Given the description of an element on the screen output the (x, y) to click on. 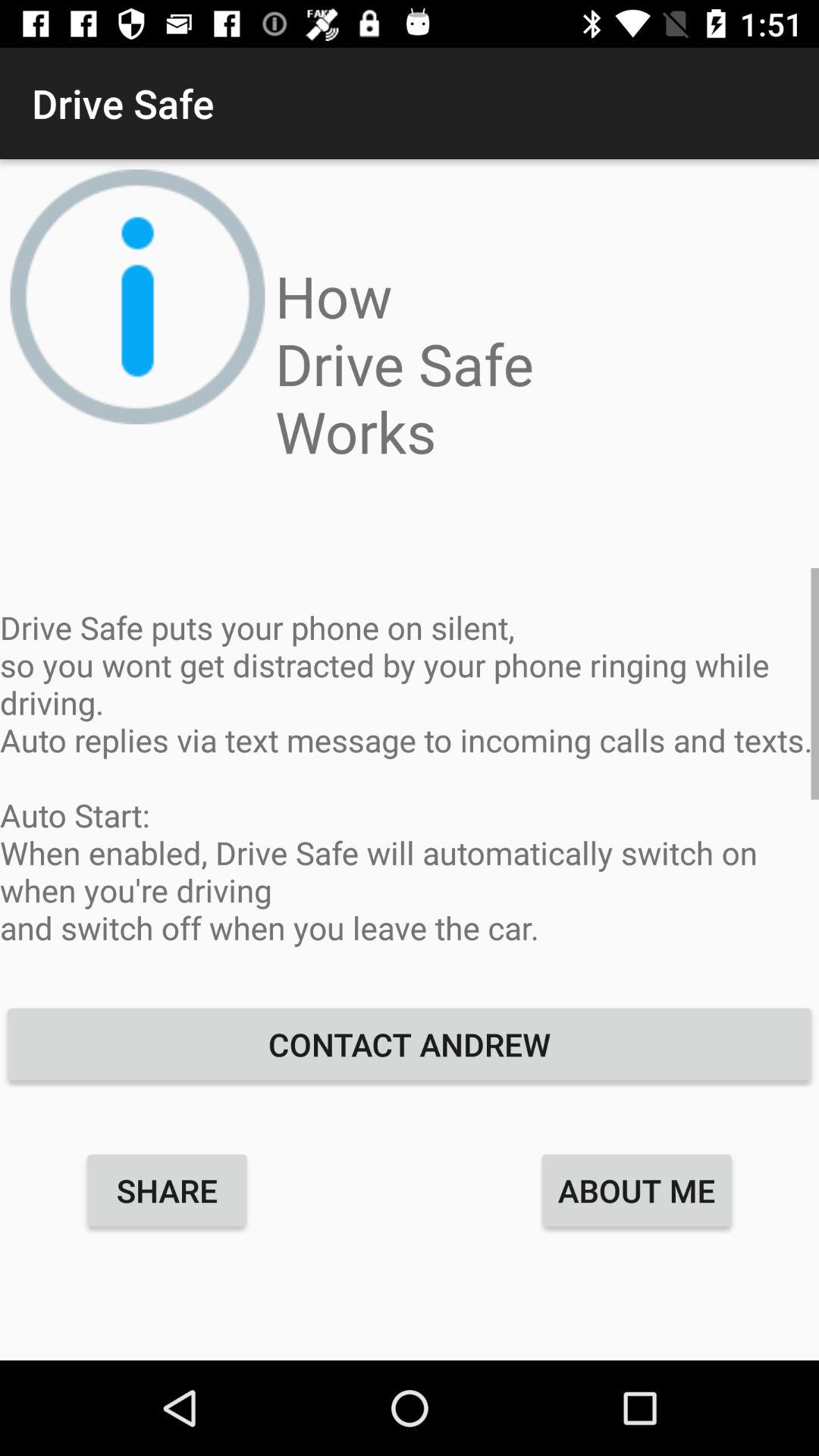
press the item to the left of about me icon (166, 1190)
